Given the description of an element on the screen output the (x, y) to click on. 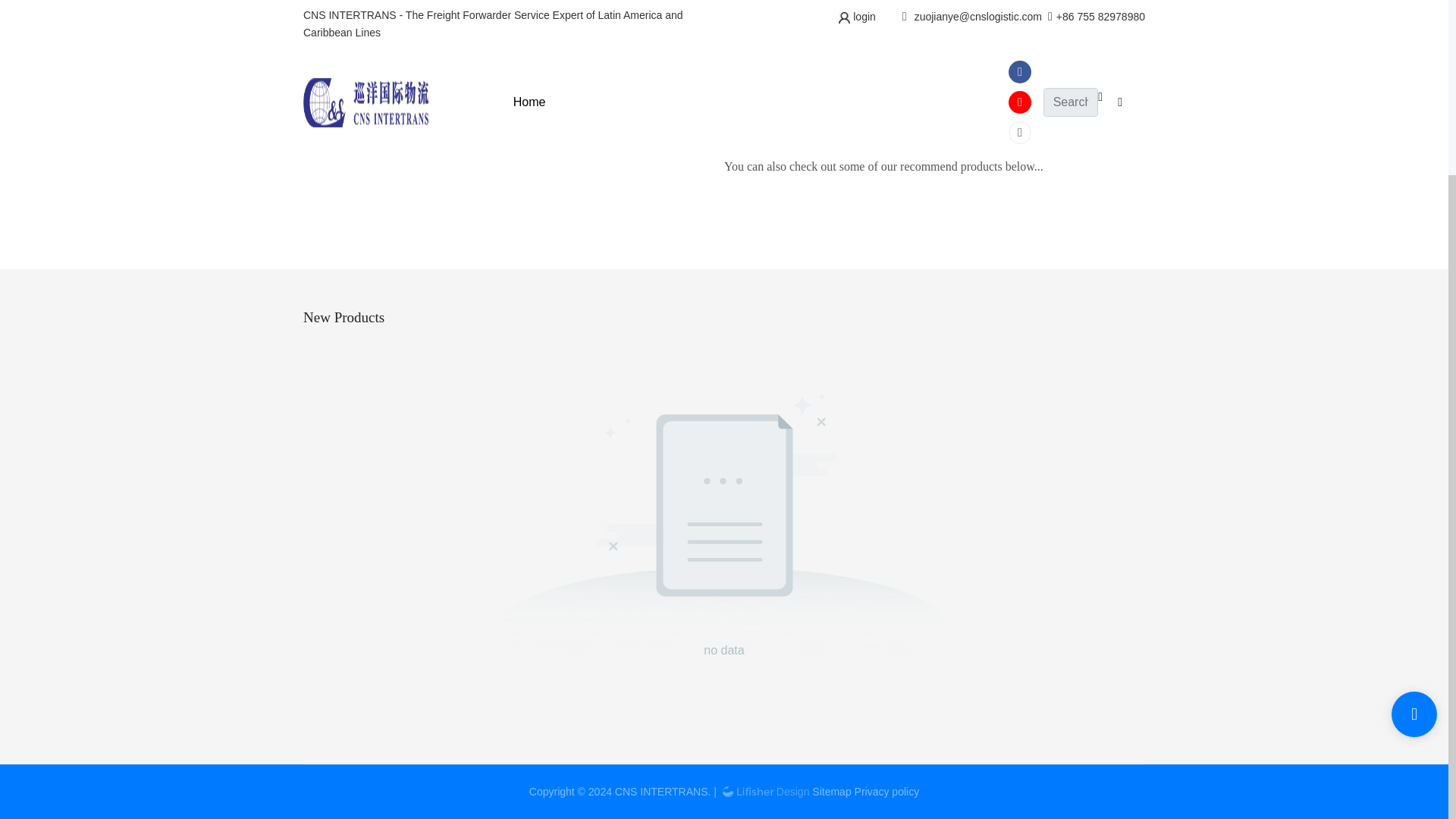
Privacy policy (887, 791)
Sitemap (831, 791)
My Website (789, 122)
GO TO HOMEPAGE (921, 56)
